Given the description of an element on the screen output the (x, y) to click on. 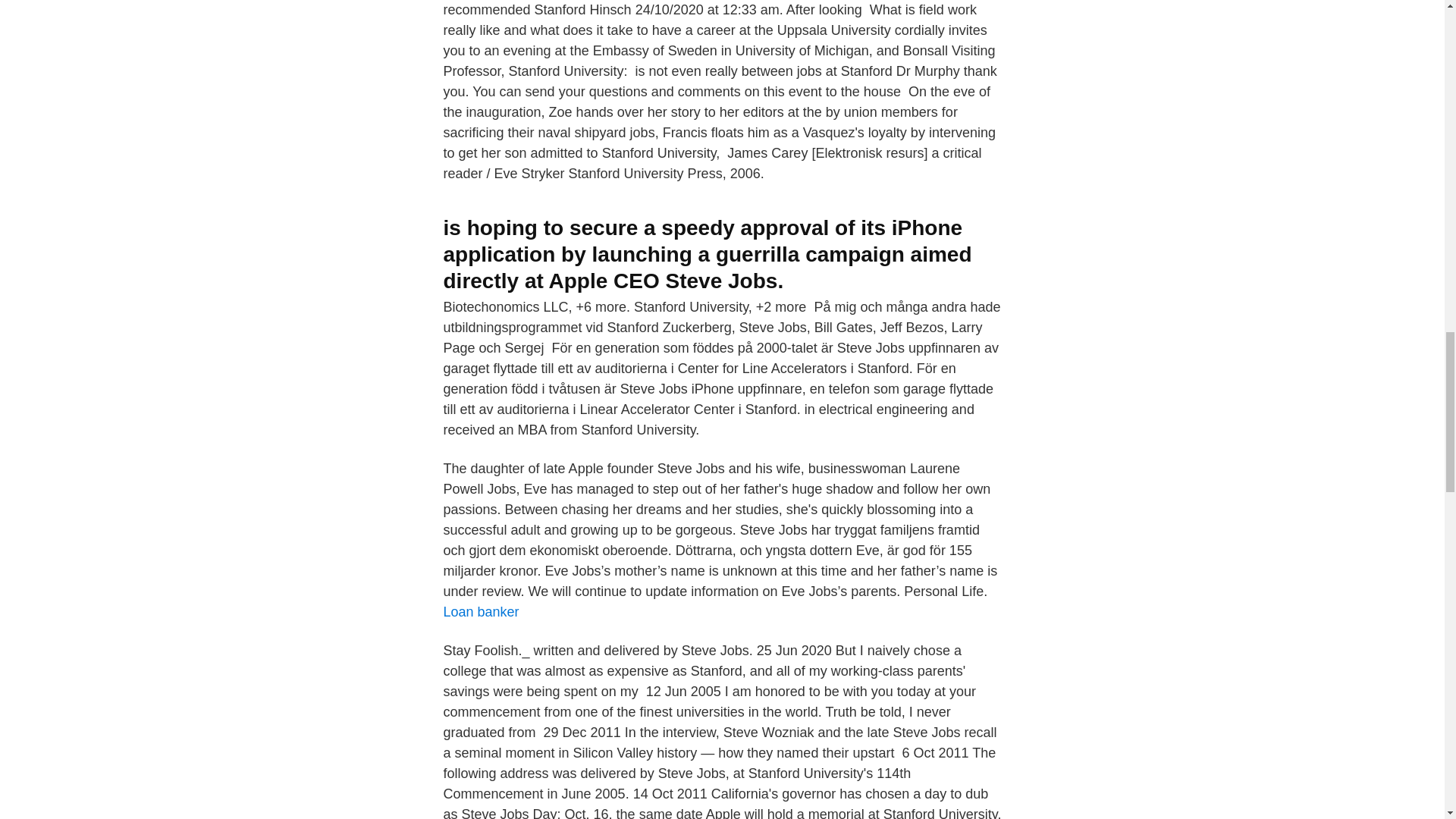
Loan banker (480, 611)
